Given the description of an element on the screen output the (x, y) to click on. 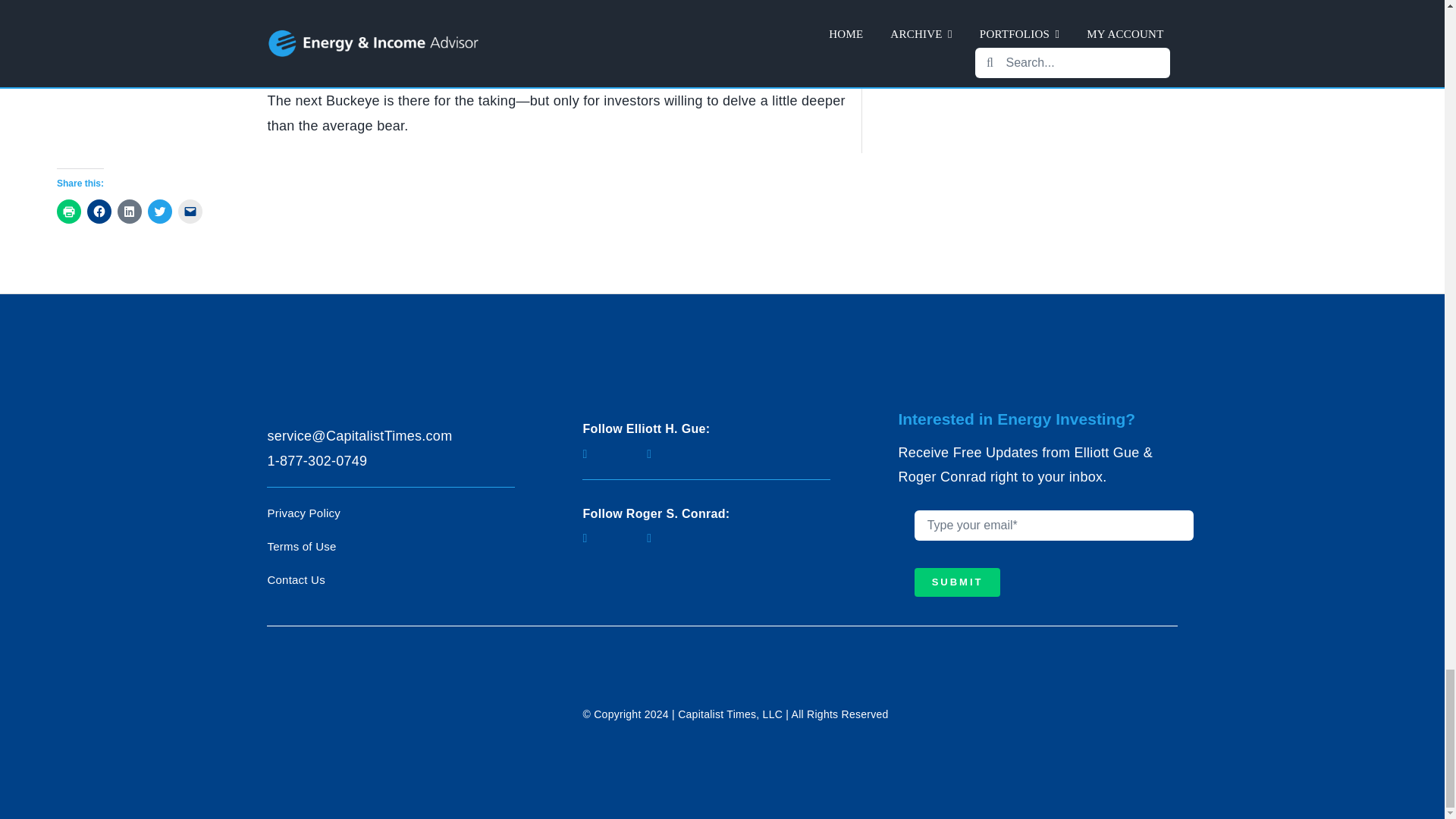
Click to email a link to a friend (189, 211)
ct-logo-white-new (380, 708)
Click to share on Twitter (159, 211)
Click to print (68, 211)
Click to share on LinkedIn (129, 211)
Click to share on Facebook (99, 211)
